Given the description of an element on the screen output the (x, y) to click on. 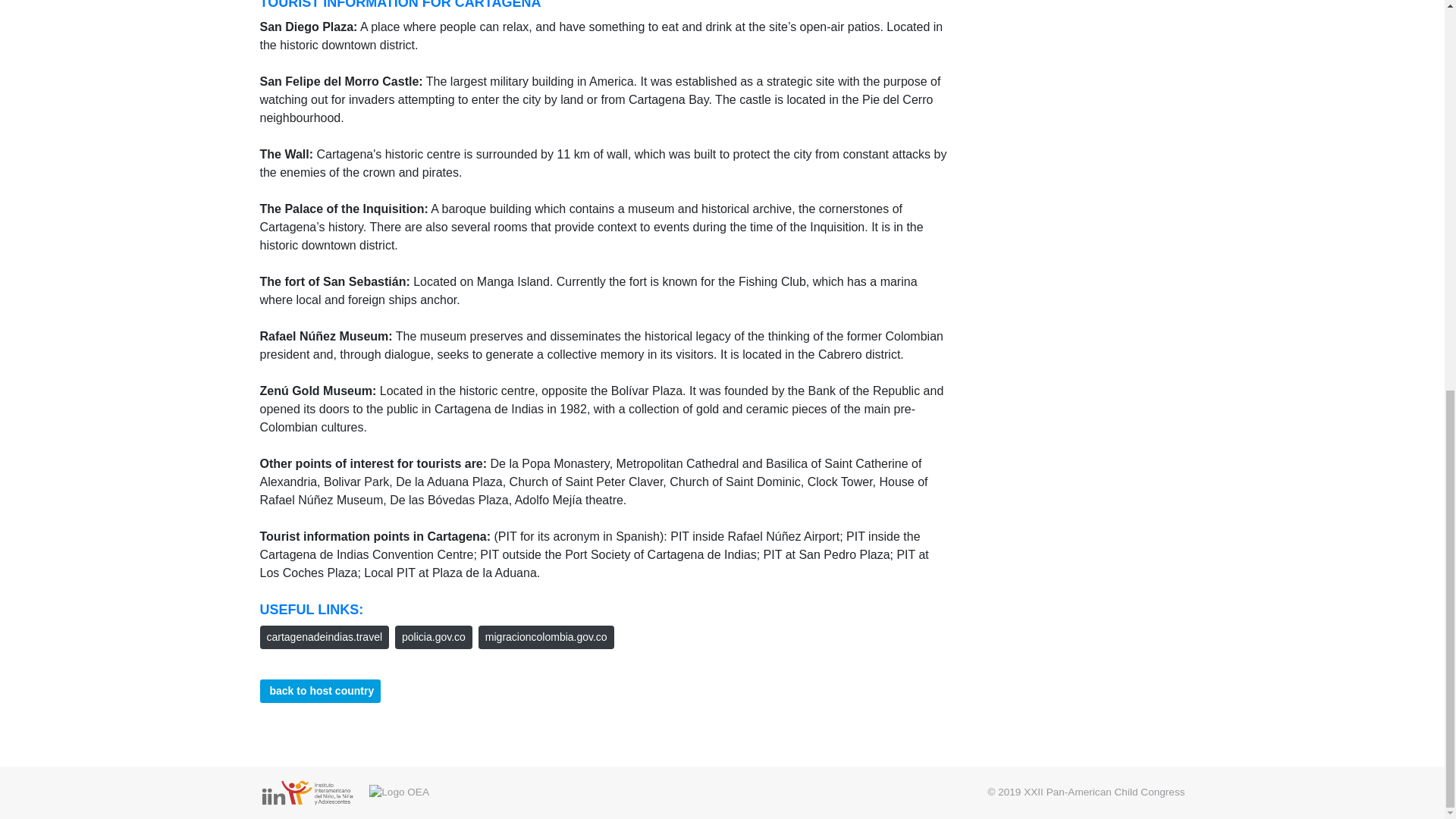
cartagenadeindias.travel (323, 637)
XXII Pan-American Child Congress (1104, 791)
back to host country (319, 690)
policia.gov.co (432, 637)
migracioncolombia.gov.co (546, 637)
